Given the description of an element on the screen output the (x, y) to click on. 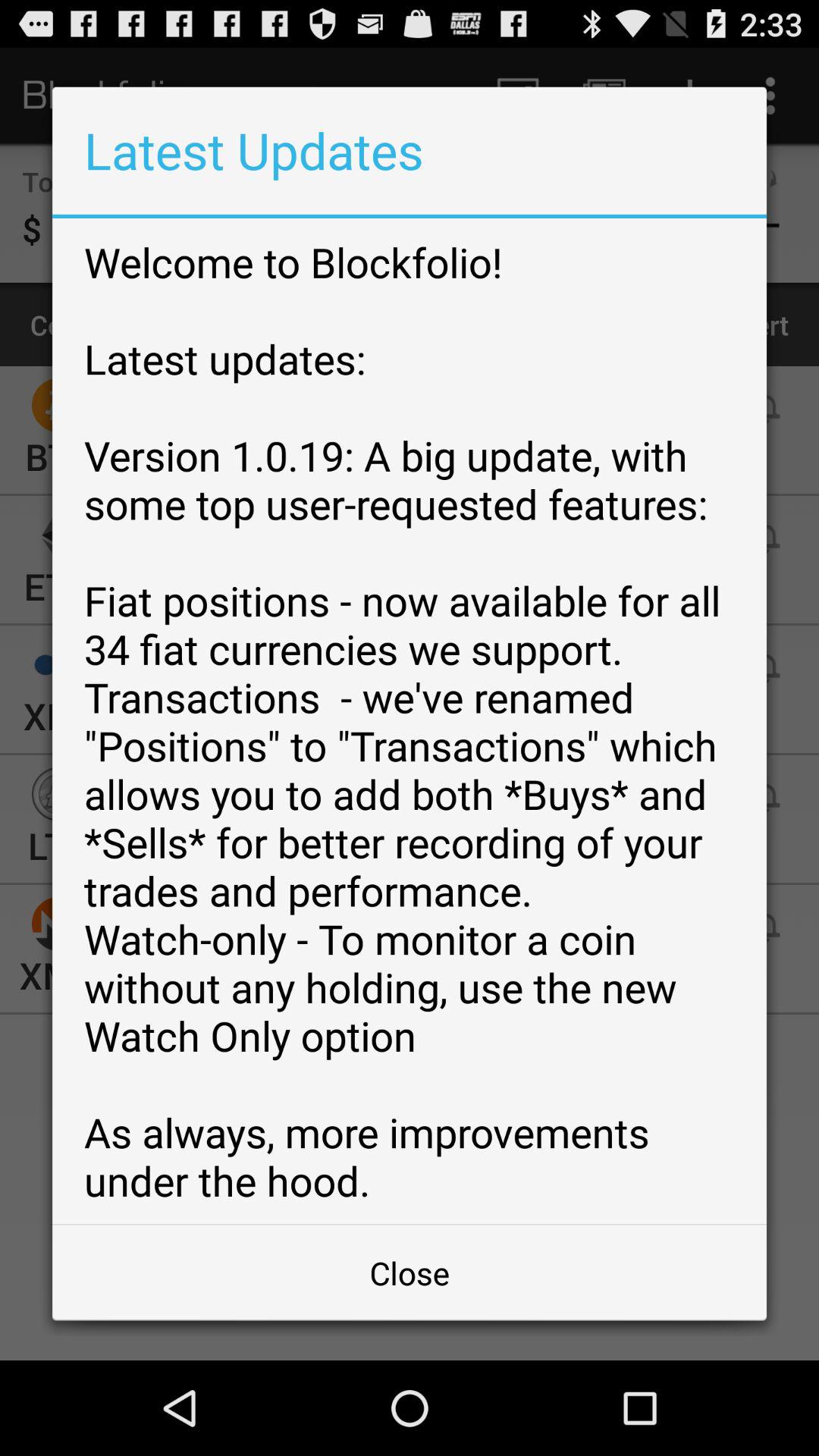
press close at the bottom (409, 1272)
